Given the description of an element on the screen output the (x, y) to click on. 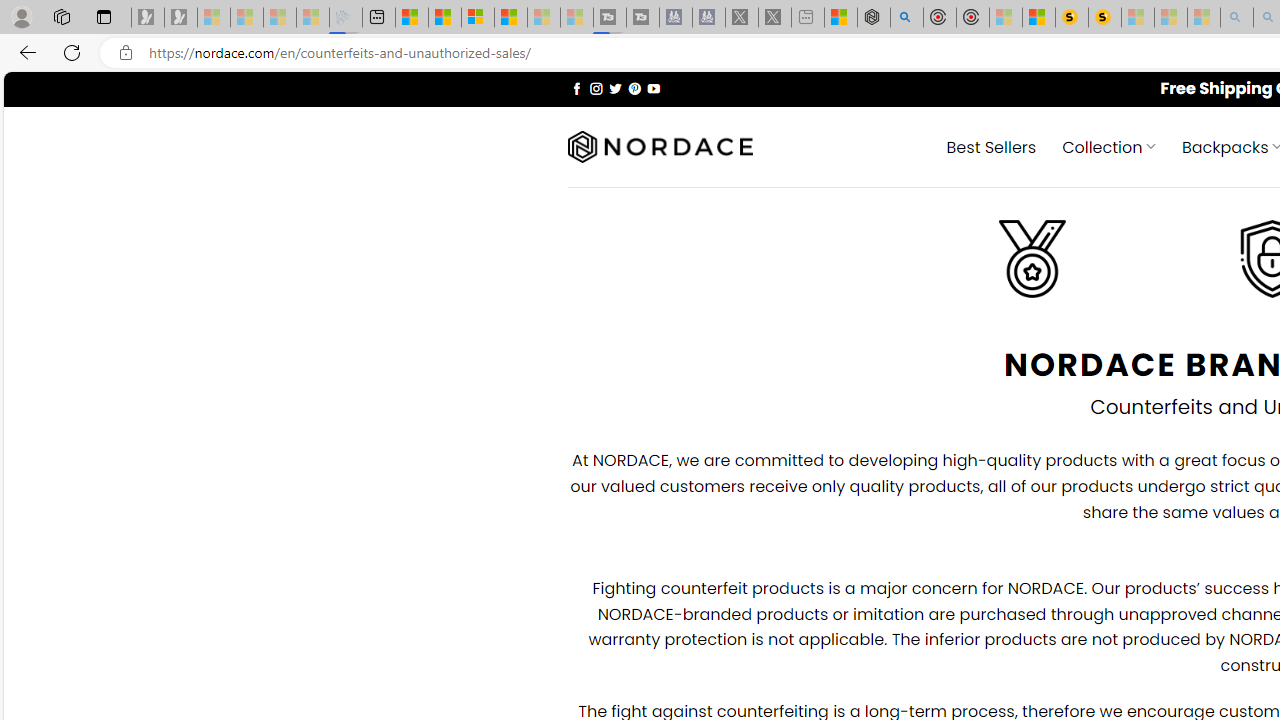
Wildlife - MSN (841, 17)
amazon - Search - Sleeping (1237, 17)
Follow on Twitter (615, 88)
  Best Sellers (990, 146)
Follow on YouTube (653, 88)
Follow on Pinterest (634, 88)
